Given the description of an element on the screen output the (x, y) to click on. 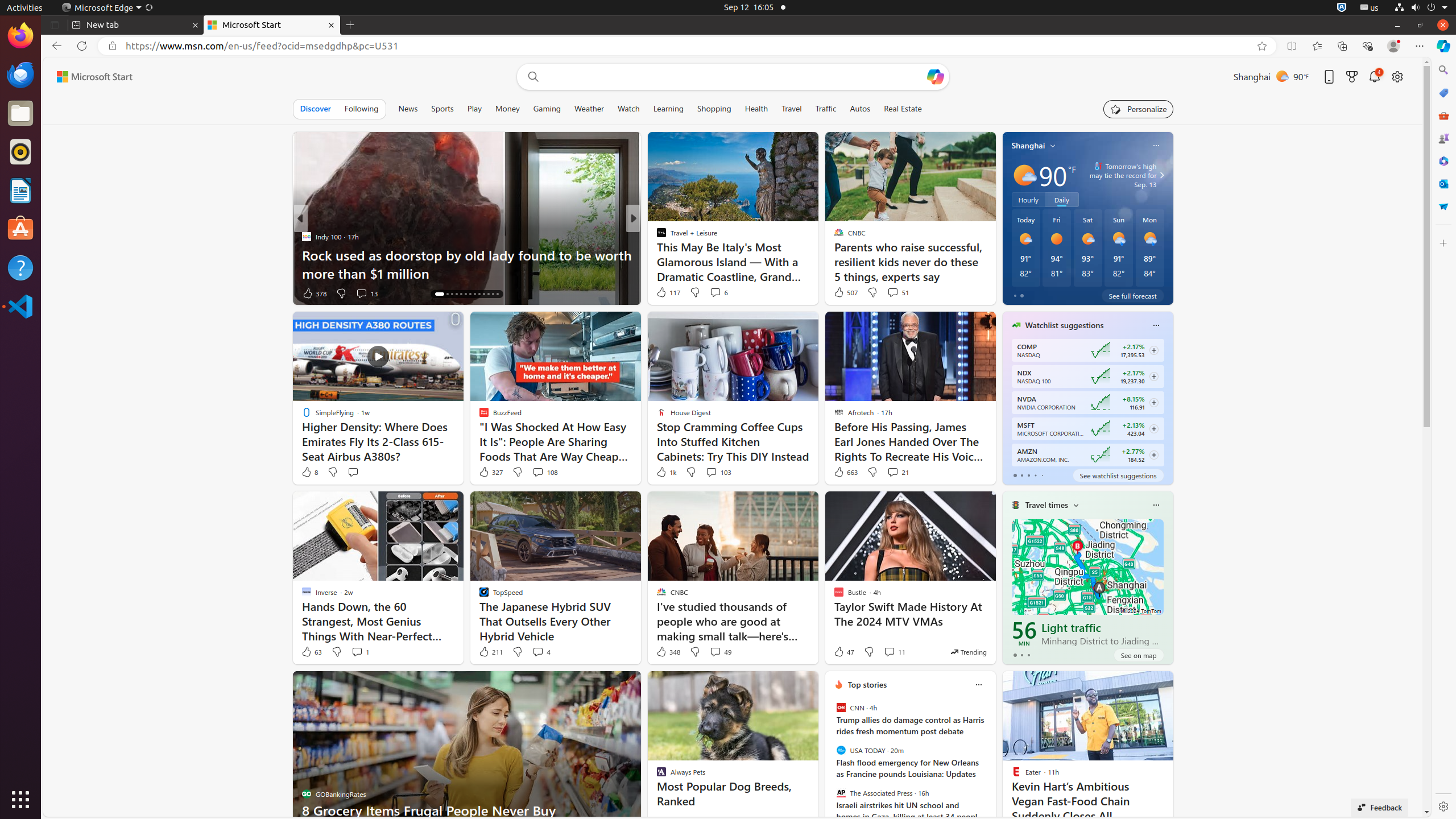
I've been to 30 tropical islands. From Bora Bora to Barbados, here are the top 5 I'd visit again. Element type: link (816, 263)
Watch Element type: link (627, 108)
CNN CNN 4 hours Trump allies do damage control as Harris rides fresh momentum post debate Element type: link (909, 719)
Firefox Web Browser Element type: push-button (20, 35)
NDX NASDAQ 100 ‎+2.17%‎ 19,237.30 Element type: link (1087, 376)
